Given the description of an element on the screen output the (x, y) to click on. 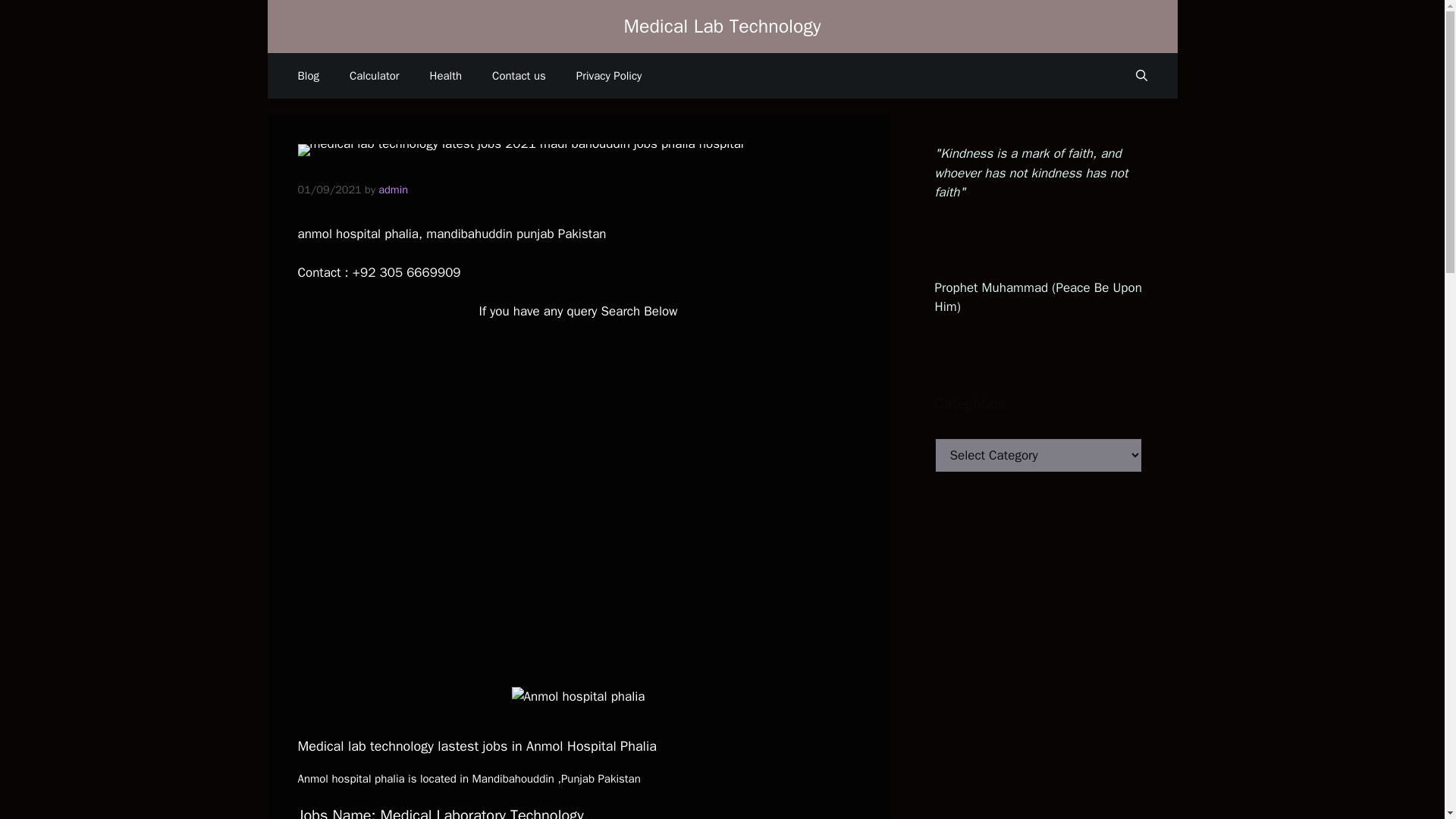
Calculator (374, 75)
Medical Lab Technology (722, 25)
Contact us (518, 75)
admin (392, 189)
Privacy Policy (609, 75)
View all posts by admin (392, 189)
Health (445, 75)
Blog (307, 75)
